Given the description of an element on the screen output the (x, y) to click on. 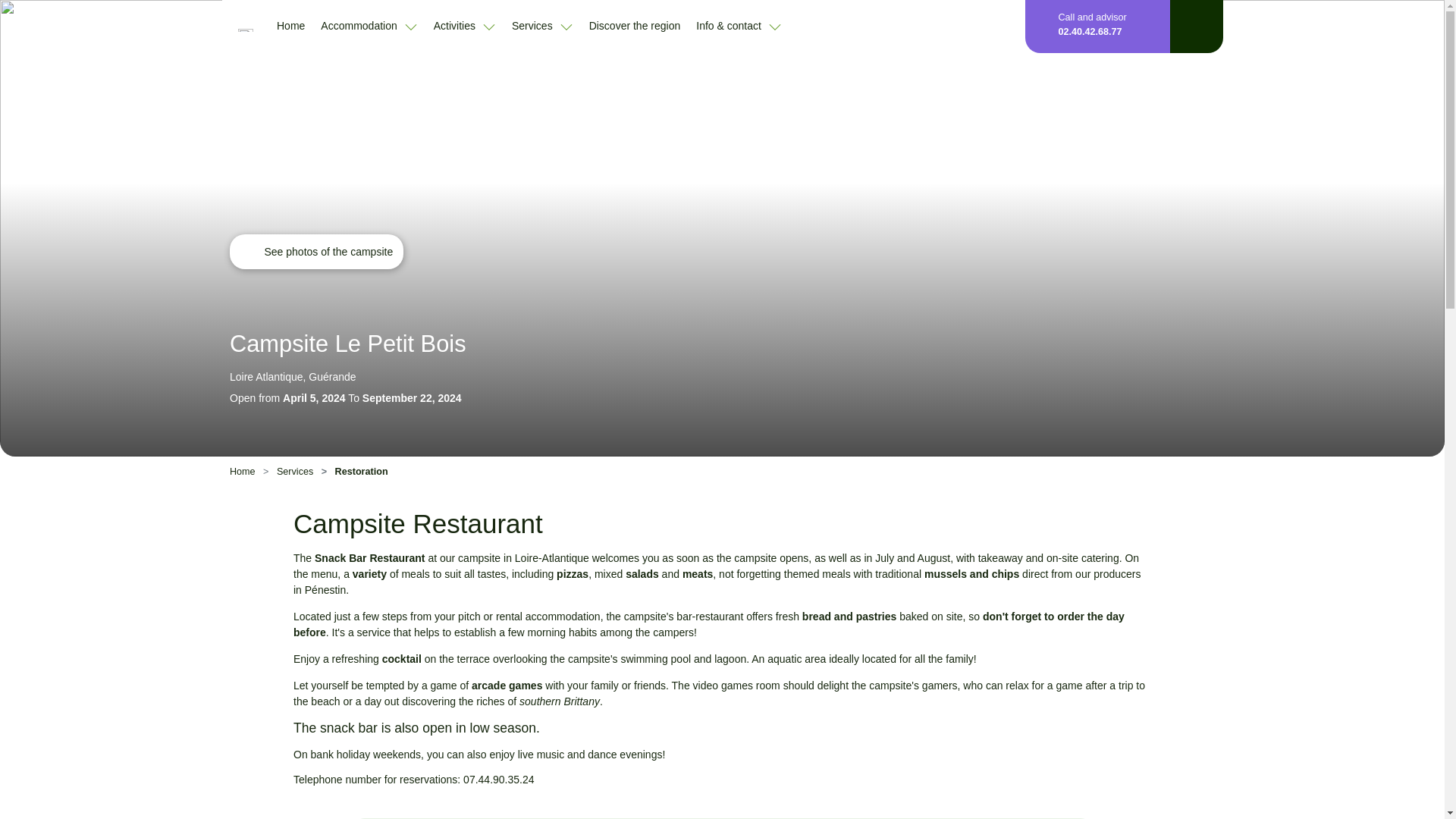
Activities (464, 26)
Discover the region (635, 25)
See photos of the campsite (316, 251)
Services (542, 26)
Accommodation (368, 26)
Home (290, 25)
